Given the description of an element on the screen output the (x, y) to click on. 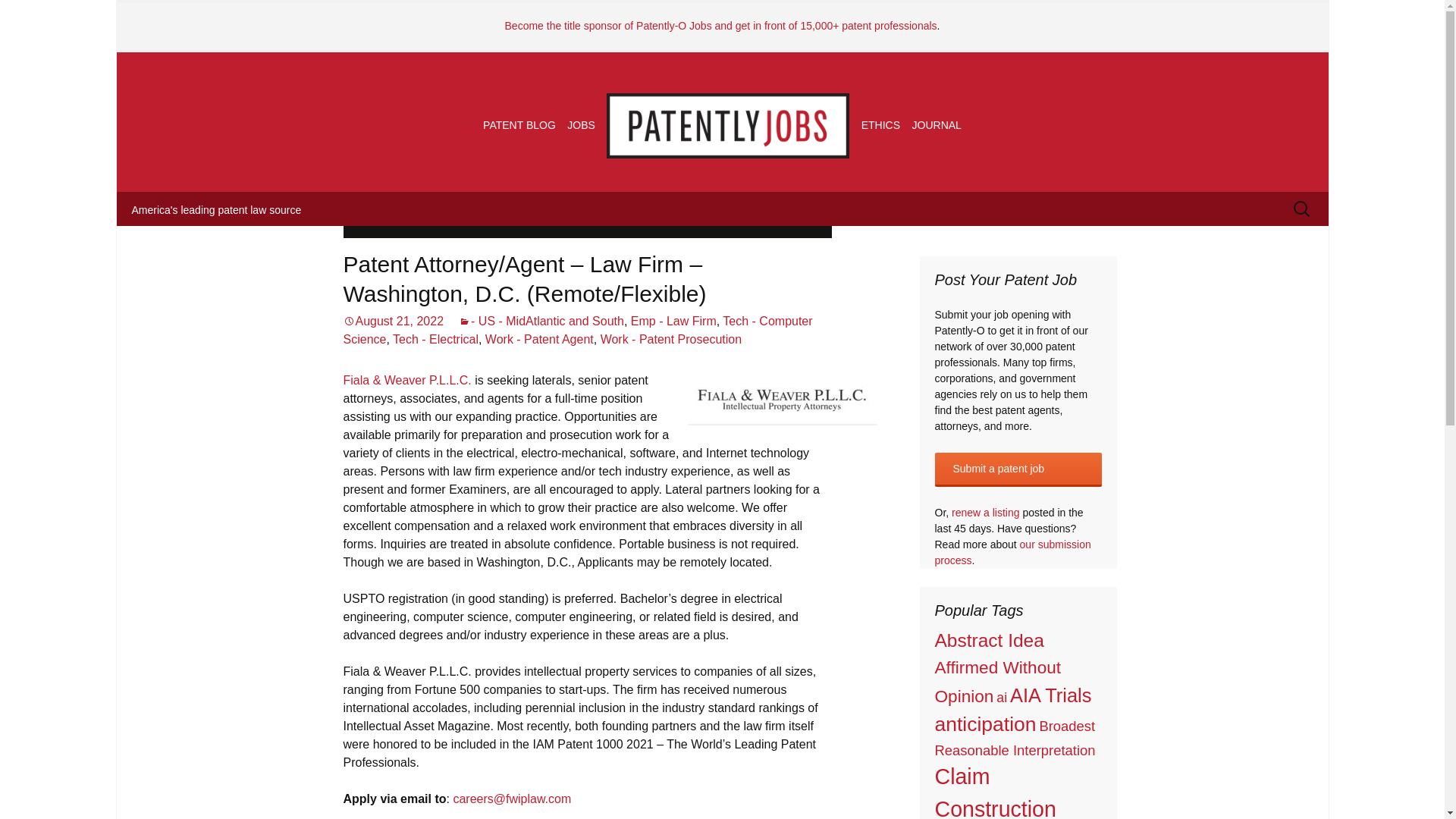
JOURNAL (936, 124)
Affirmed Without Opinion (997, 681)
Abstract Idea (988, 639)
Work - Patent Prosecution (670, 338)
Submit a patent job (1017, 469)
Search (37, 15)
- US - MidAtlantic and South (541, 320)
Patent Law Journal from Patently-O (936, 124)
PATENT BLOG (519, 124)
Emp - Law Firm (673, 320)
